Given the description of an element on the screen output the (x, y) to click on. 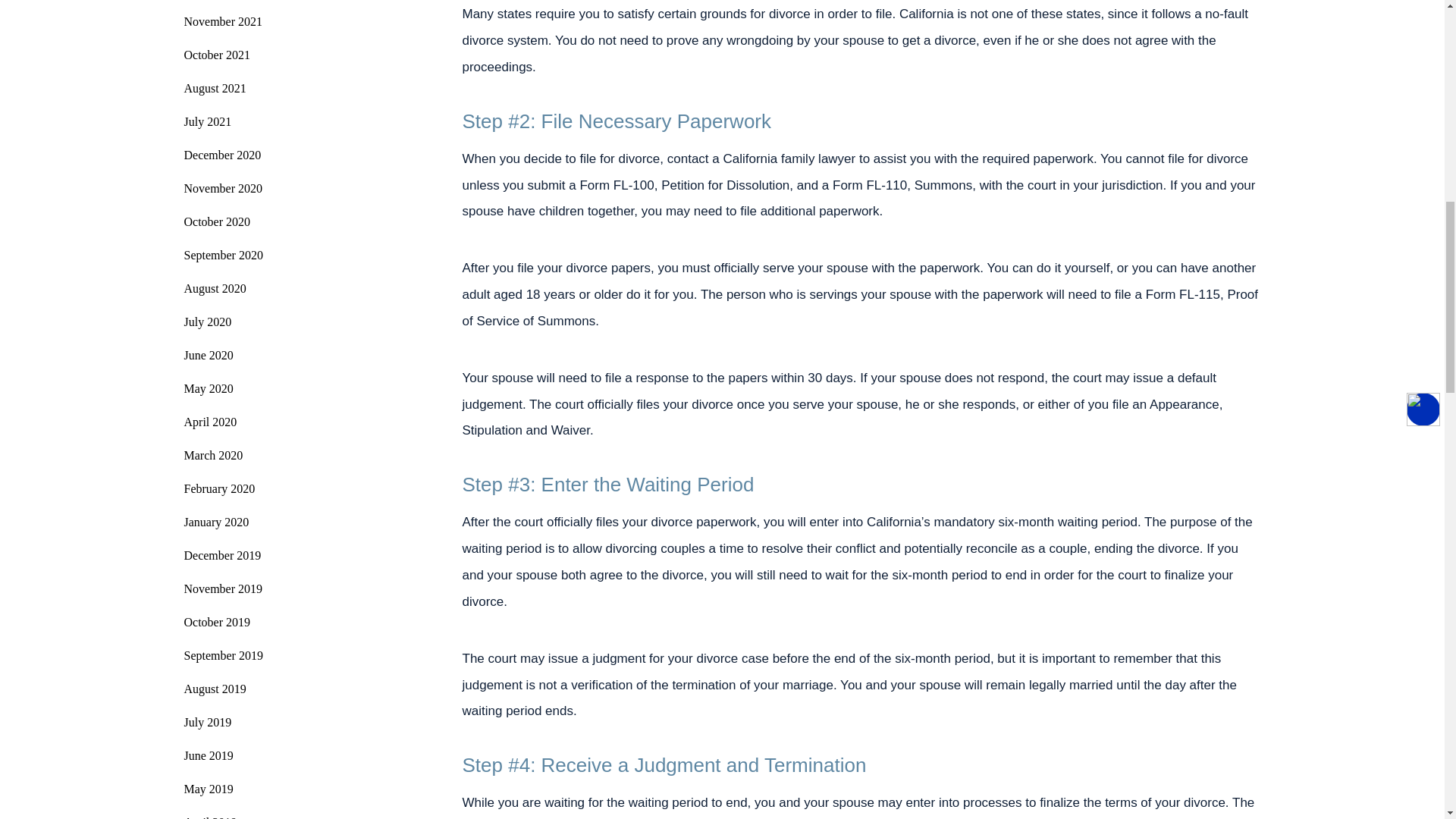
November 2022 (268, 2)
November 2021 (268, 21)
October 2021 (268, 55)
